Given the description of an element on the screen output the (x, y) to click on. 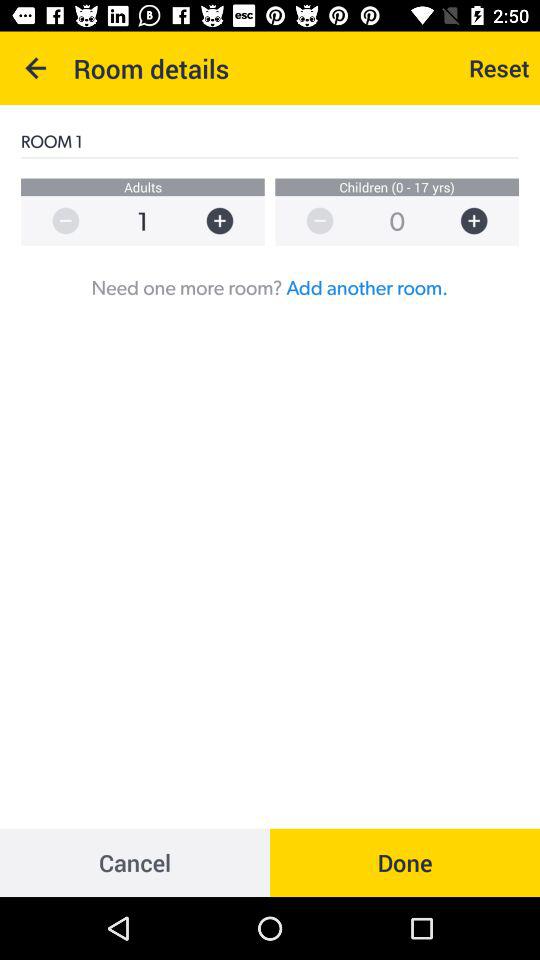
choose icon next to the room details item (36, 68)
